Given the description of an element on the screen output the (x, y) to click on. 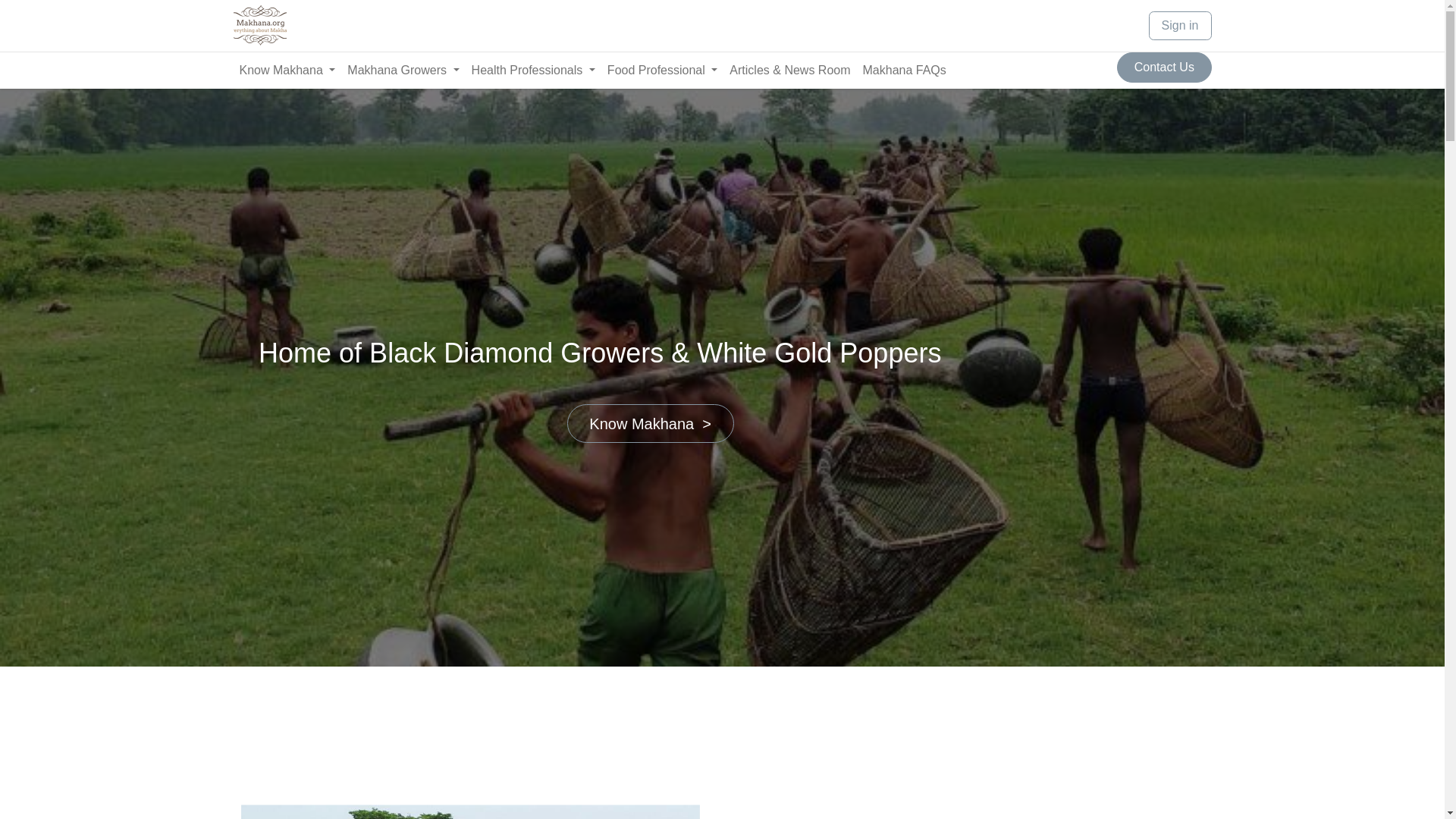
Sign in (1179, 25)
www.makhana.org (259, 25)
Makhana Growers (402, 70)
Health Professionals (533, 70)
Know Makhana (287, 70)
Sign in (722, 25)
